Given the description of an element on the screen output the (x, y) to click on. 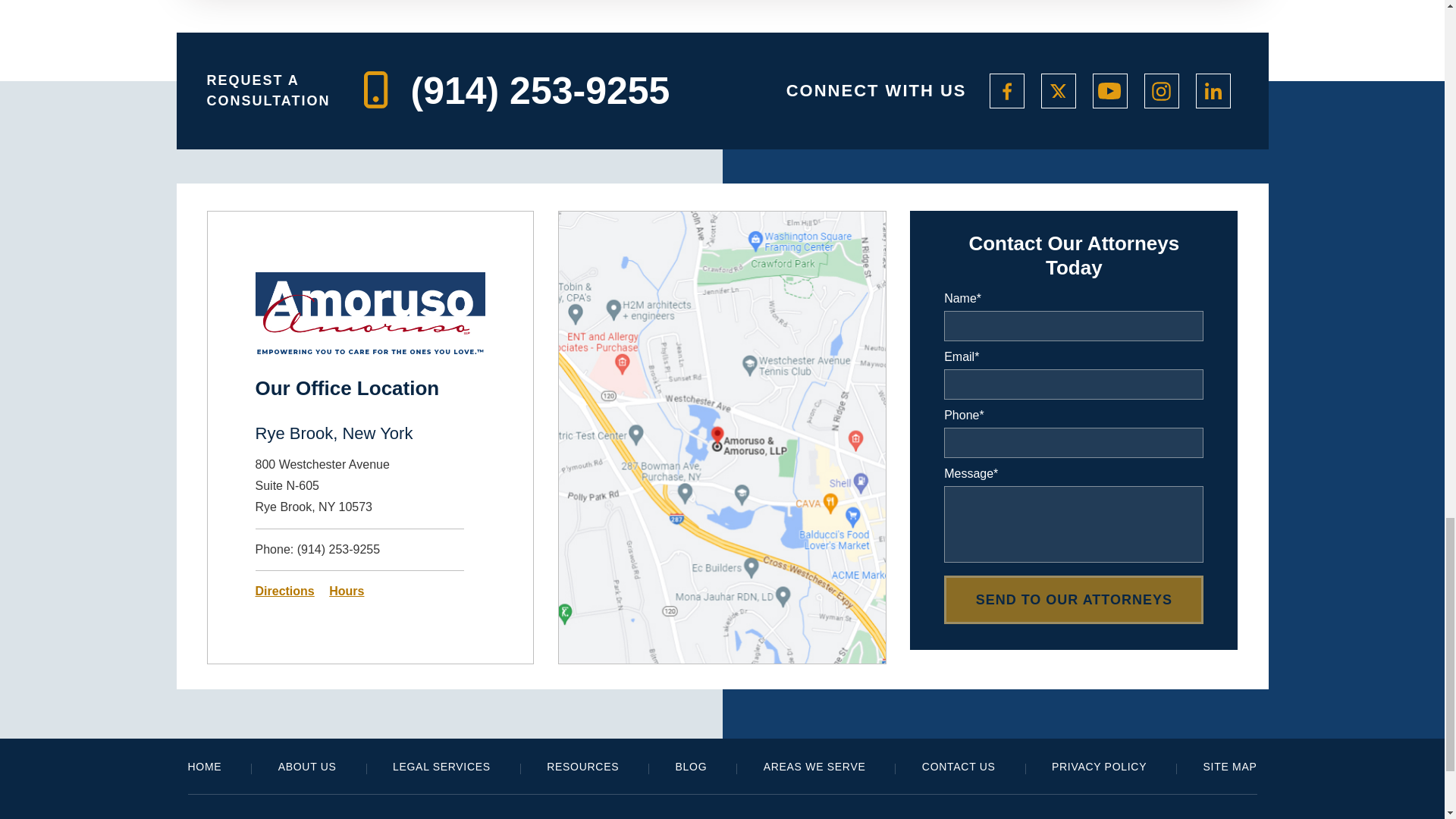
Send To Our Attorneys (1073, 599)
